Given the description of an element on the screen output the (x, y) to click on. 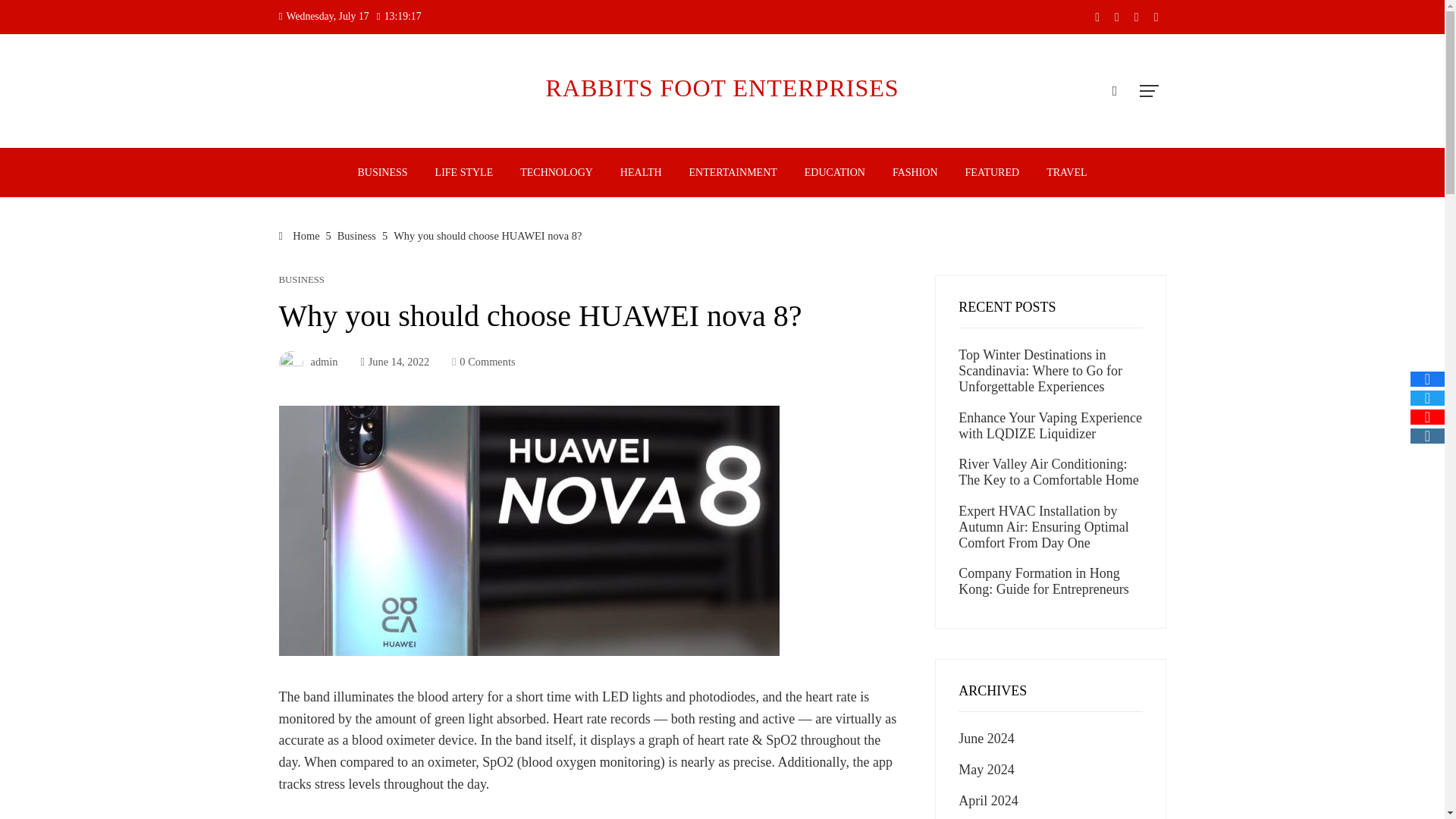
FEATURED (991, 172)
TECHNOLOGY (556, 172)
RABBITS FOOT ENTERPRISES (721, 87)
HEALTH (640, 172)
EDUCATION (834, 172)
LIFE STYLE (464, 172)
Business (356, 235)
TRAVEL (1066, 172)
ENTERTAINMENT (733, 172)
Home (299, 235)
BUSINESS (382, 172)
BUSINESS (301, 280)
FASHION (914, 172)
